Given the description of an element on the screen output the (x, y) to click on. 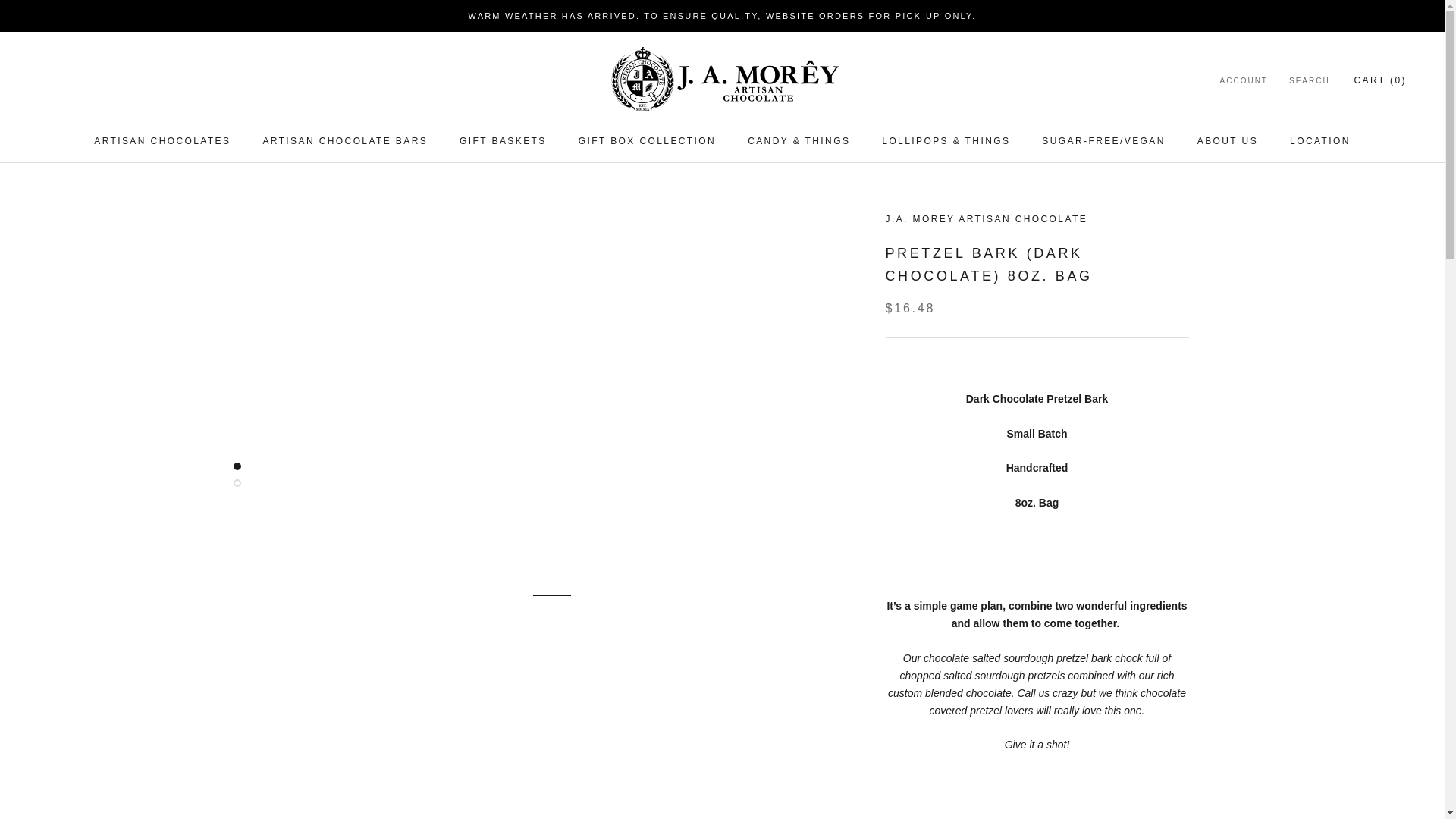
ACCOUNT (162, 140)
SEARCH (1244, 81)
